Given the description of an element on the screen output the (x, y) to click on. 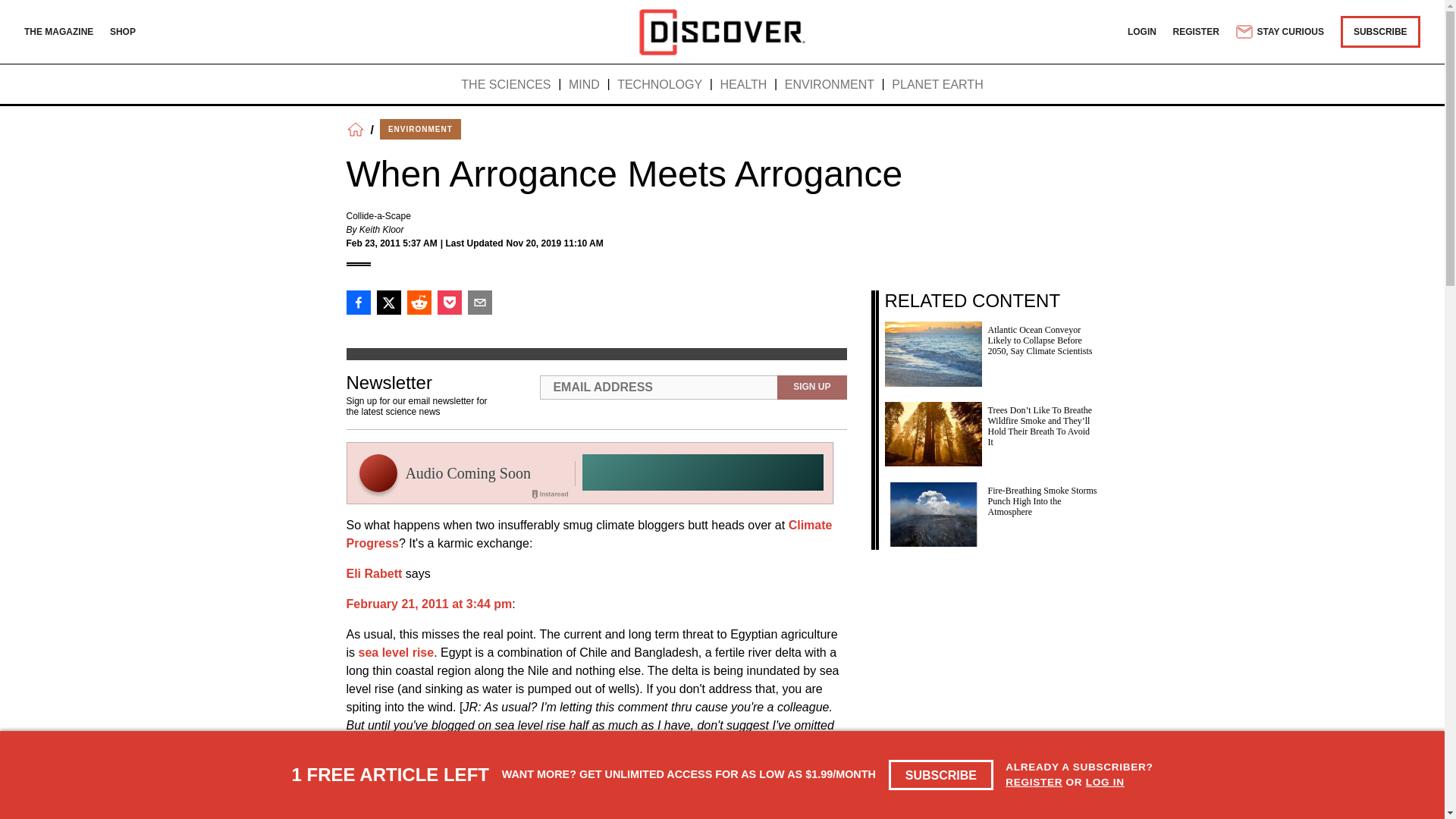
Keith Kloor (381, 229)
ENVIRONMENT (829, 84)
THE MAGAZINE (58, 31)
STAY CURIOUS (1278, 31)
REGISTER (1034, 781)
SHOP (122, 31)
PLANET EARTH (936, 84)
SIGN UP (811, 387)
HEALTH (743, 84)
Eli Rabett (373, 573)
